Given the description of an element on the screen output the (x, y) to click on. 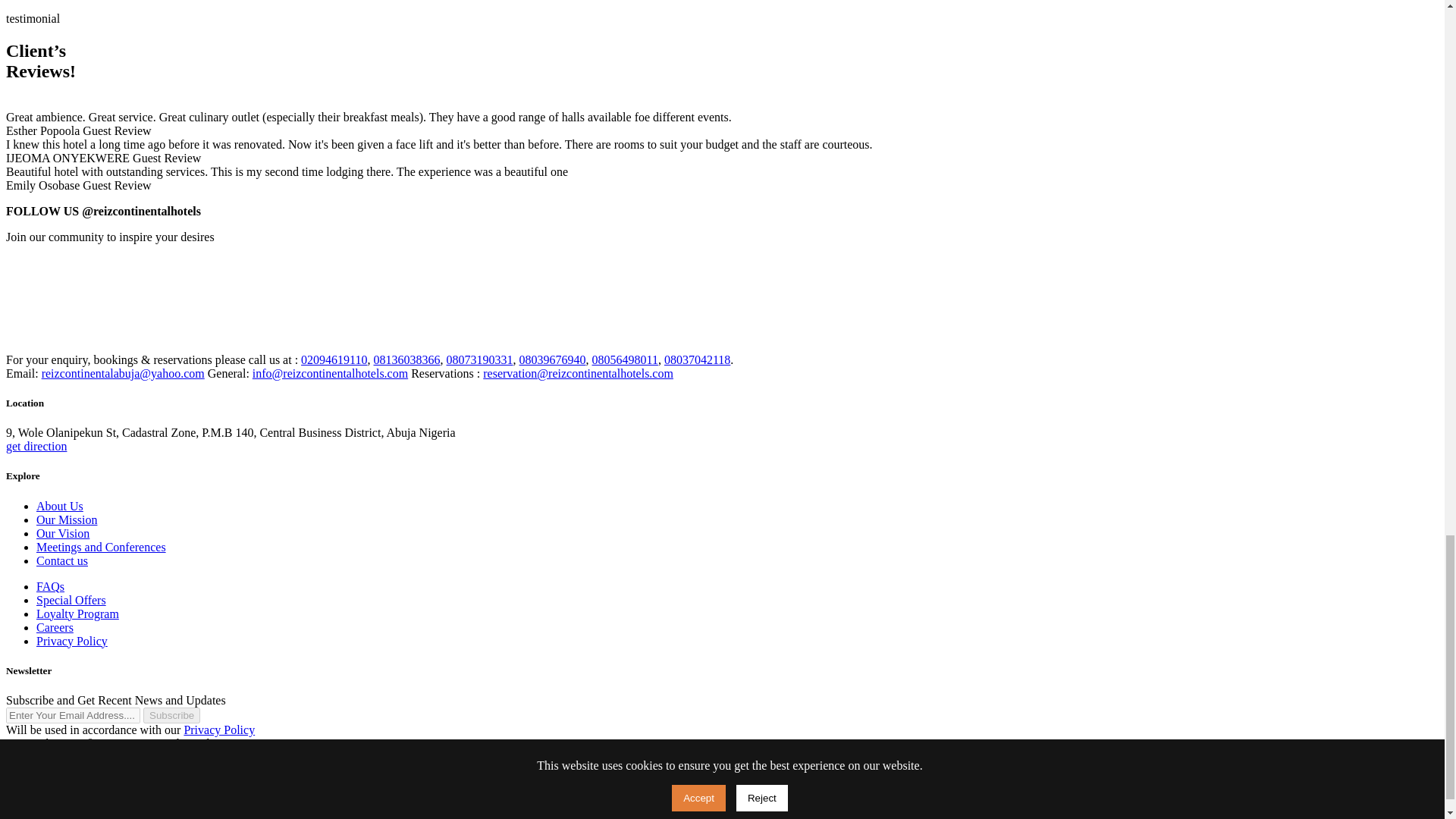
08039676940 (552, 359)
08136038366 (407, 359)
08056498011 (625, 359)
02094619110 (333, 359)
08073190331 (479, 359)
